Given the description of an element on the screen output the (x, y) to click on. 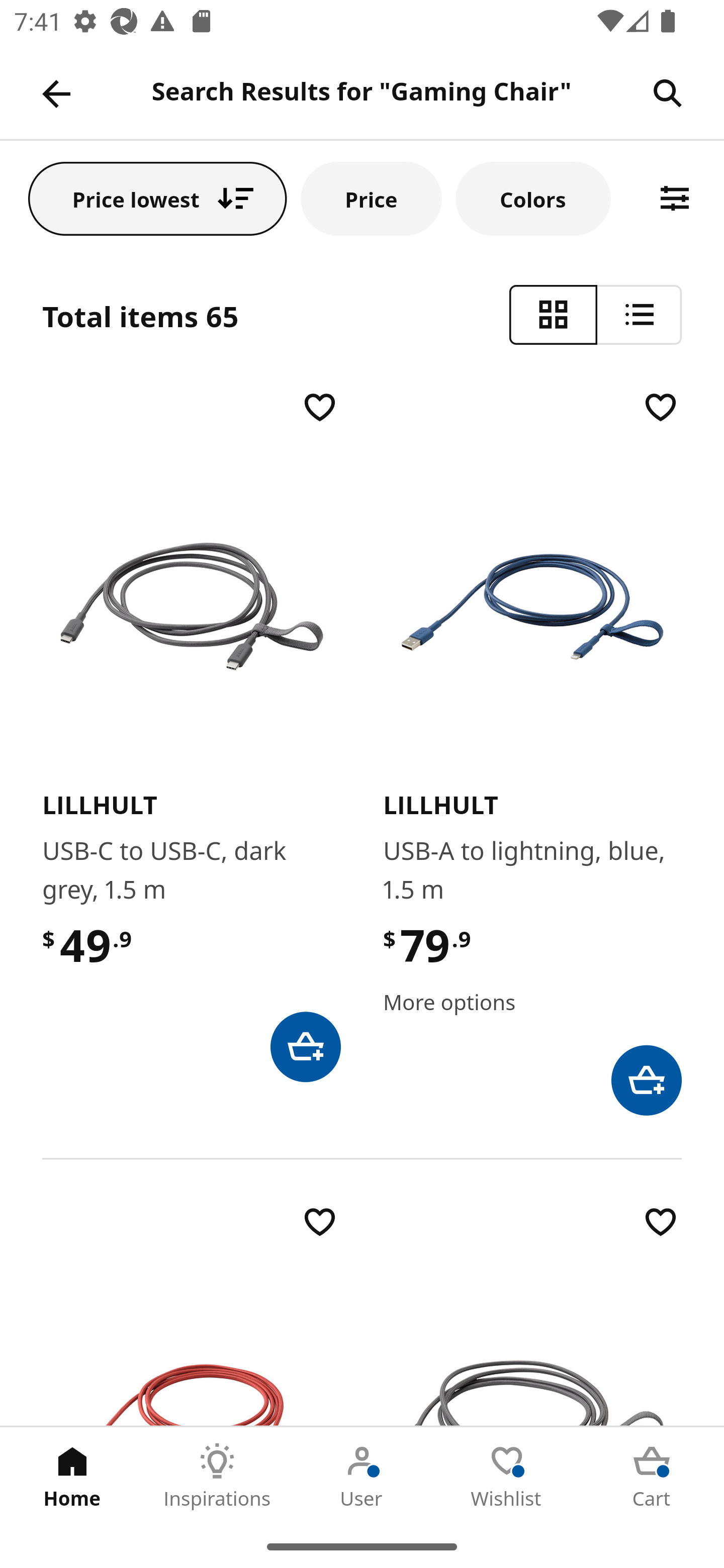
Price lowest (157, 198)
Price (371, 198)
Colors (533, 198)
Home
Tab 1 of 5 (72, 1476)
Inspirations
Tab 2 of 5 (216, 1476)
User
Tab 3 of 5 (361, 1476)
Wishlist
Tab 4 of 5 (506, 1476)
Cart
Tab 5 of 5 (651, 1476)
